Given the description of an element on the screen output the (x, y) to click on. 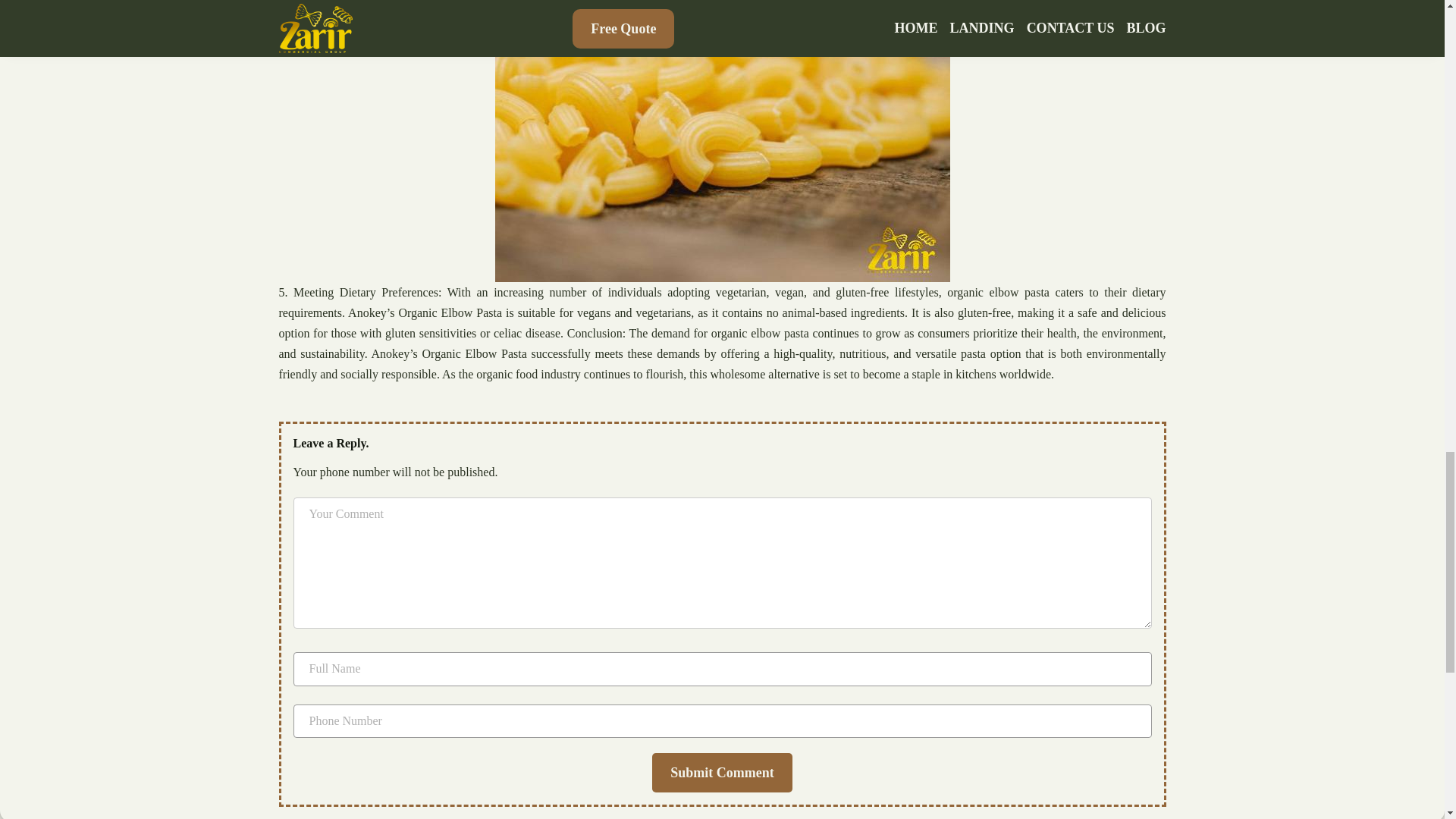
Submit Comment (722, 772)
Submit Comment (722, 772)
